Given the description of an element on the screen output the (x, y) to click on. 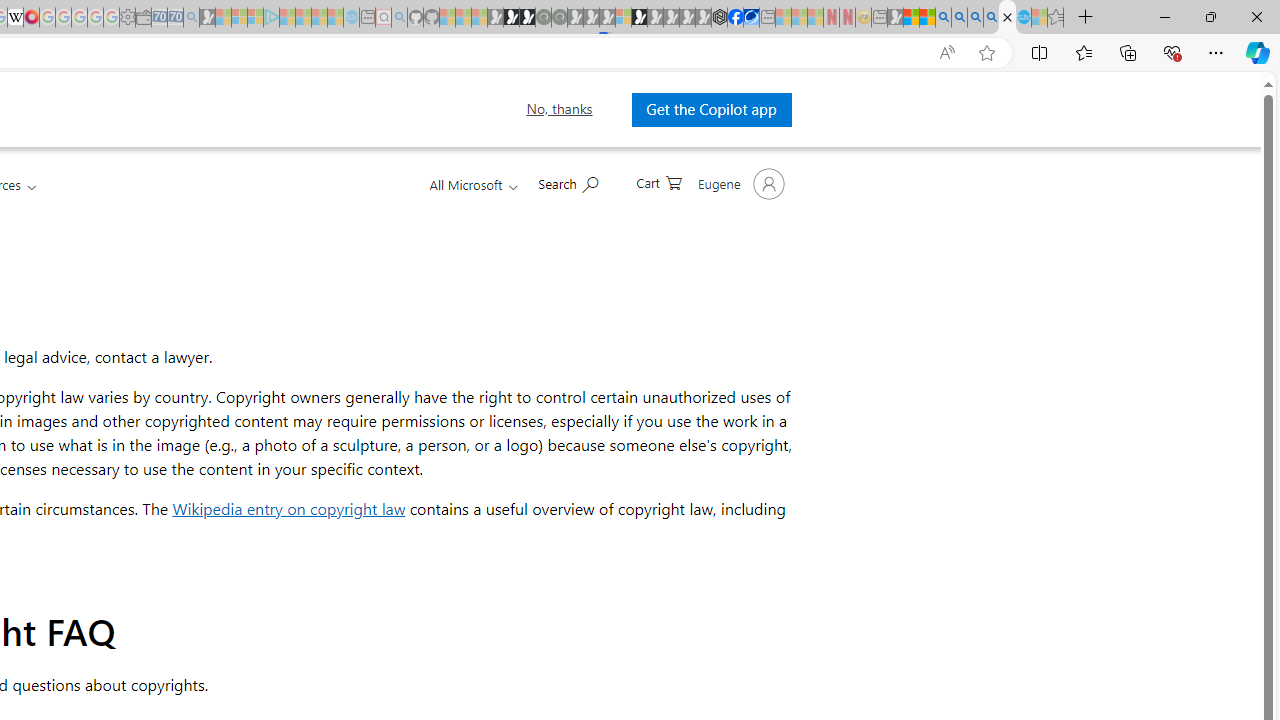
Nordace - Cooler Bags (719, 17)
Future Focus Report 2024 - Sleeping (559, 17)
Play Zoo Boom in your browser | Games from Microsoft Start (511, 17)
Settings - Sleeping (127, 17)
